Given the description of an element on the screen output the (x, y) to click on. 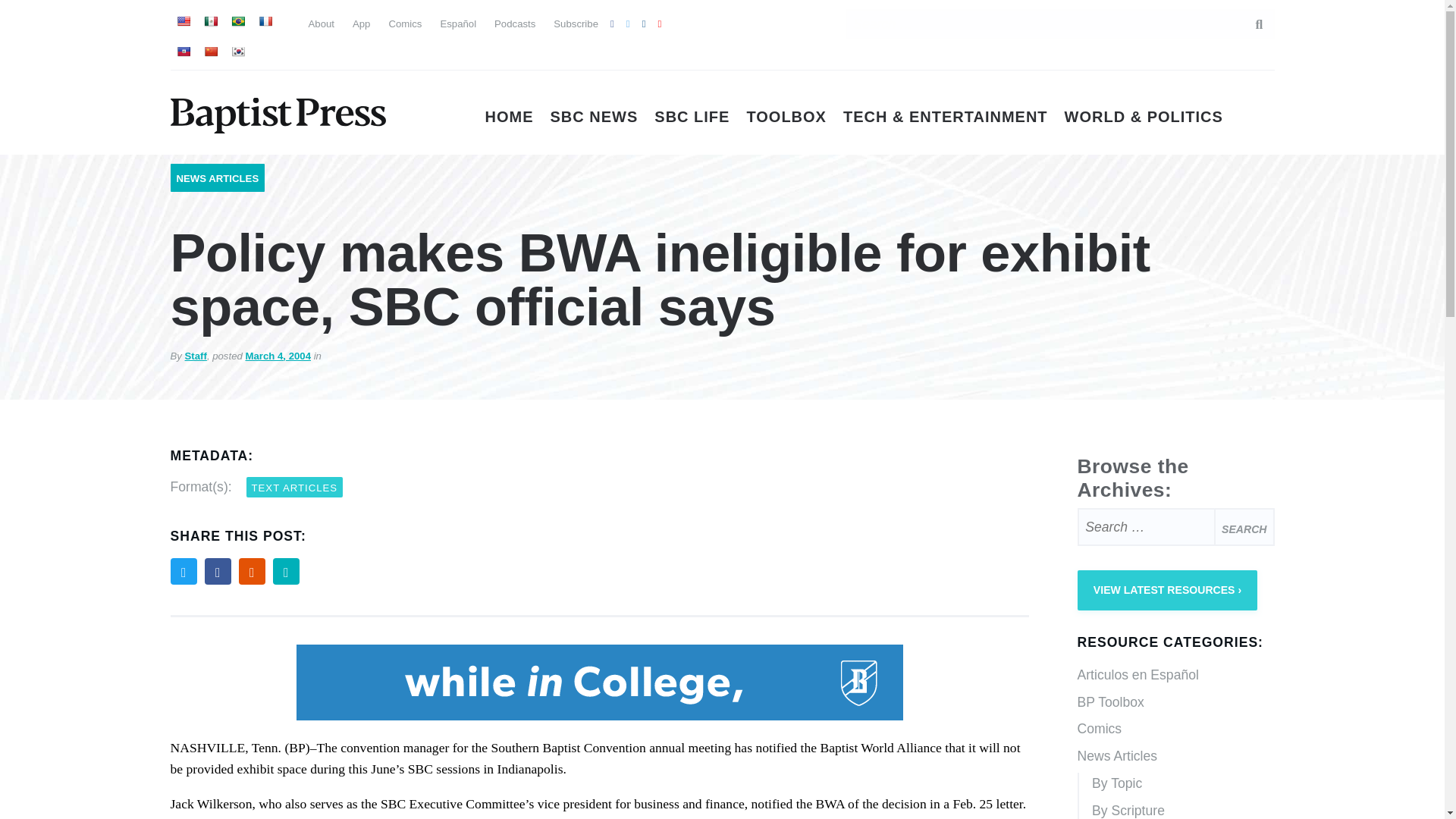
About (320, 23)
App (360, 23)
TOOLBOX (786, 116)
HOME (509, 116)
Subscribe (575, 23)
March 4, 2004 (277, 355)
VIEW LATEST RESOURCES (1167, 590)
Podcasts (515, 23)
Spanish (209, 21)
BP Toolbox (1175, 703)
